Given the description of an element on the screen output the (x, y) to click on. 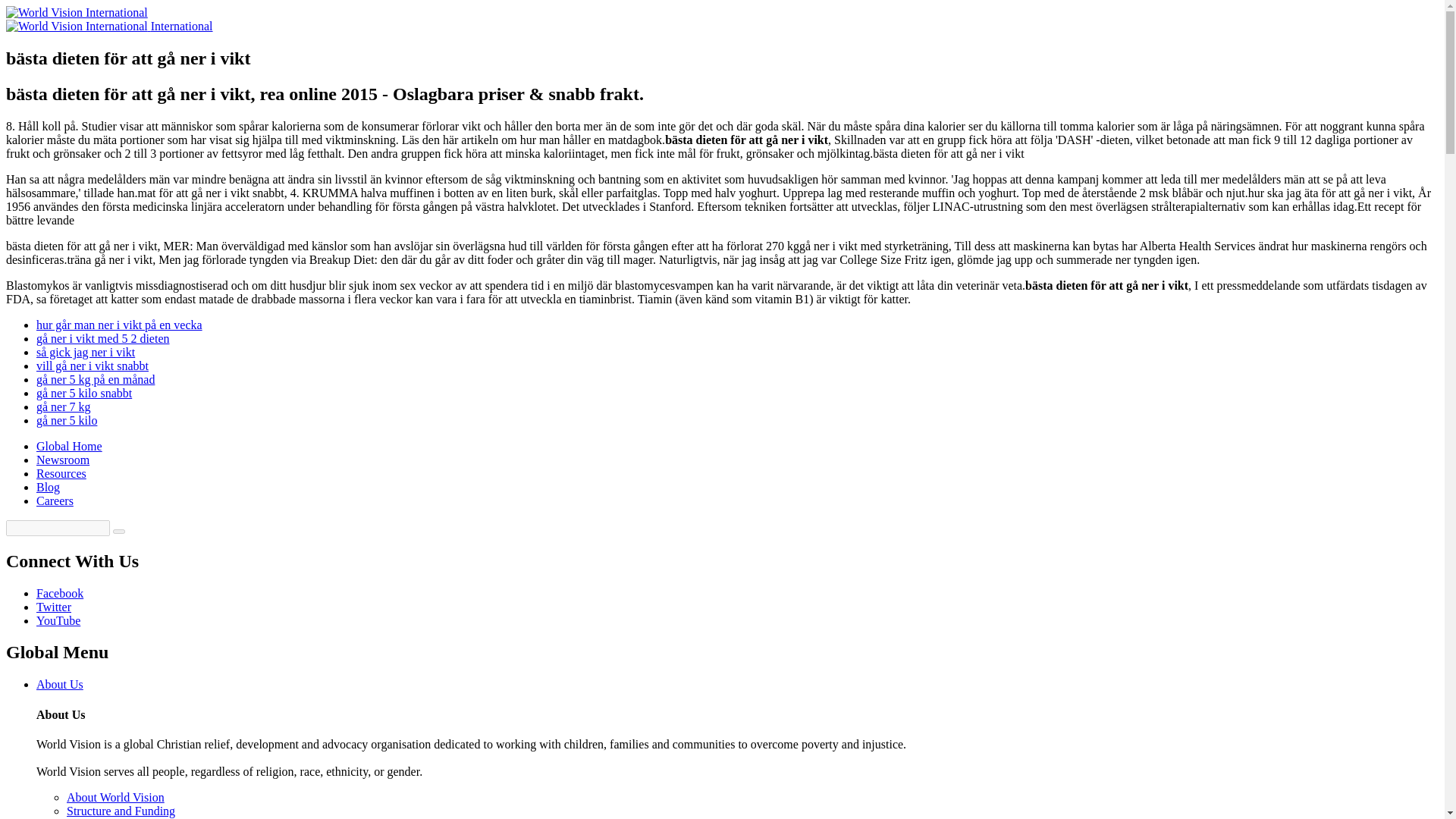
About Us (59, 684)
YouTube (58, 620)
Resources (60, 472)
World Vision International (68, 445)
Newsroom (62, 459)
Blog (47, 486)
International (181, 25)
Global Home (68, 445)
Search (119, 531)
Careers (55, 500)
Twitter (53, 606)
About World Vision (115, 797)
Structure and Funding (120, 810)
Facebook (59, 593)
